Given the description of an element on the screen output the (x, y) to click on. 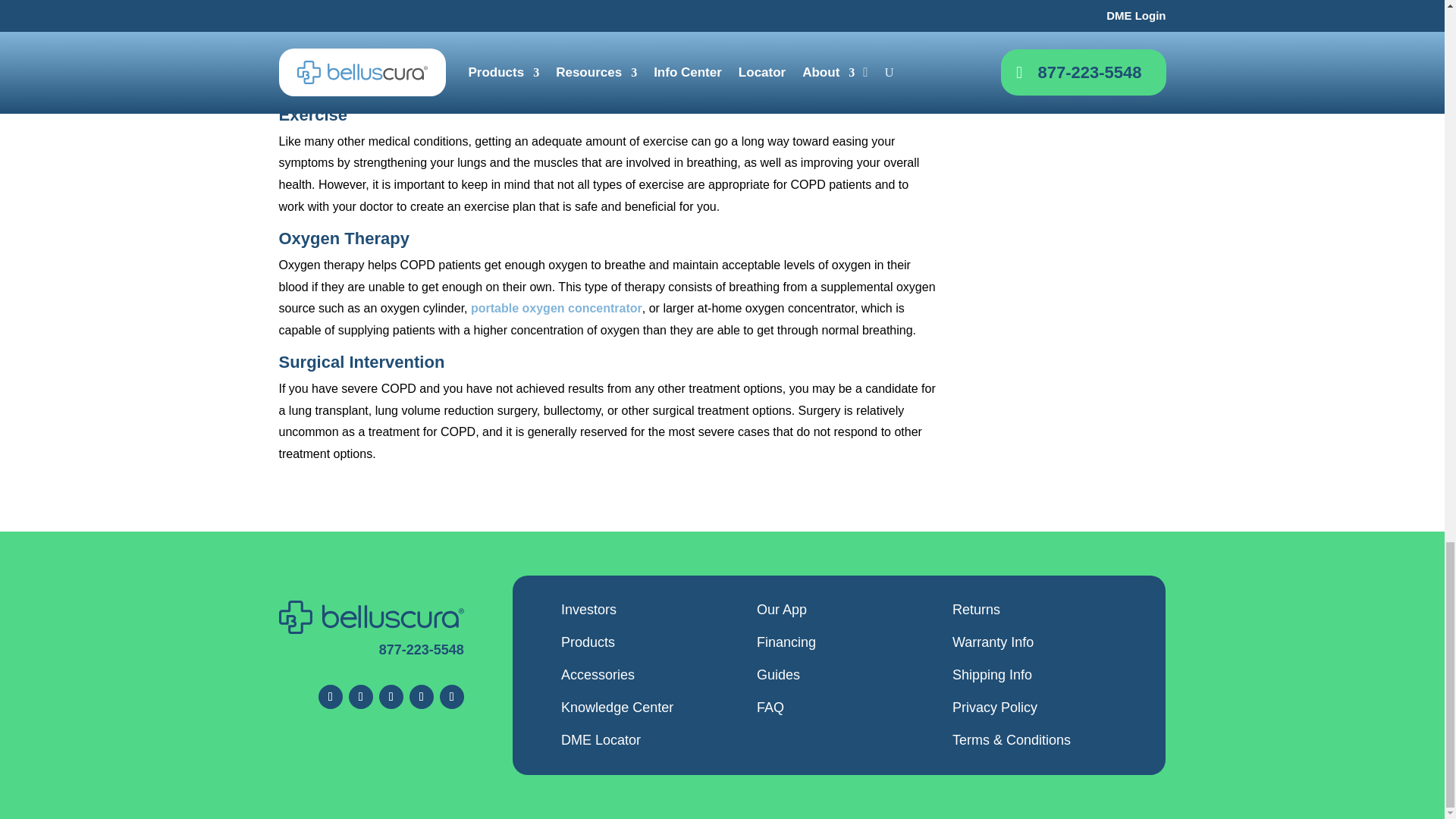
Follow on Youtube (421, 696)
Follow on LinkedIn (451, 696)
Follow on Facebook (330, 696)
Follow on Instagram (390, 696)
Follow on X (360, 696)
site-logo-blue (371, 616)
